Given the description of an element on the screen output the (x, y) to click on. 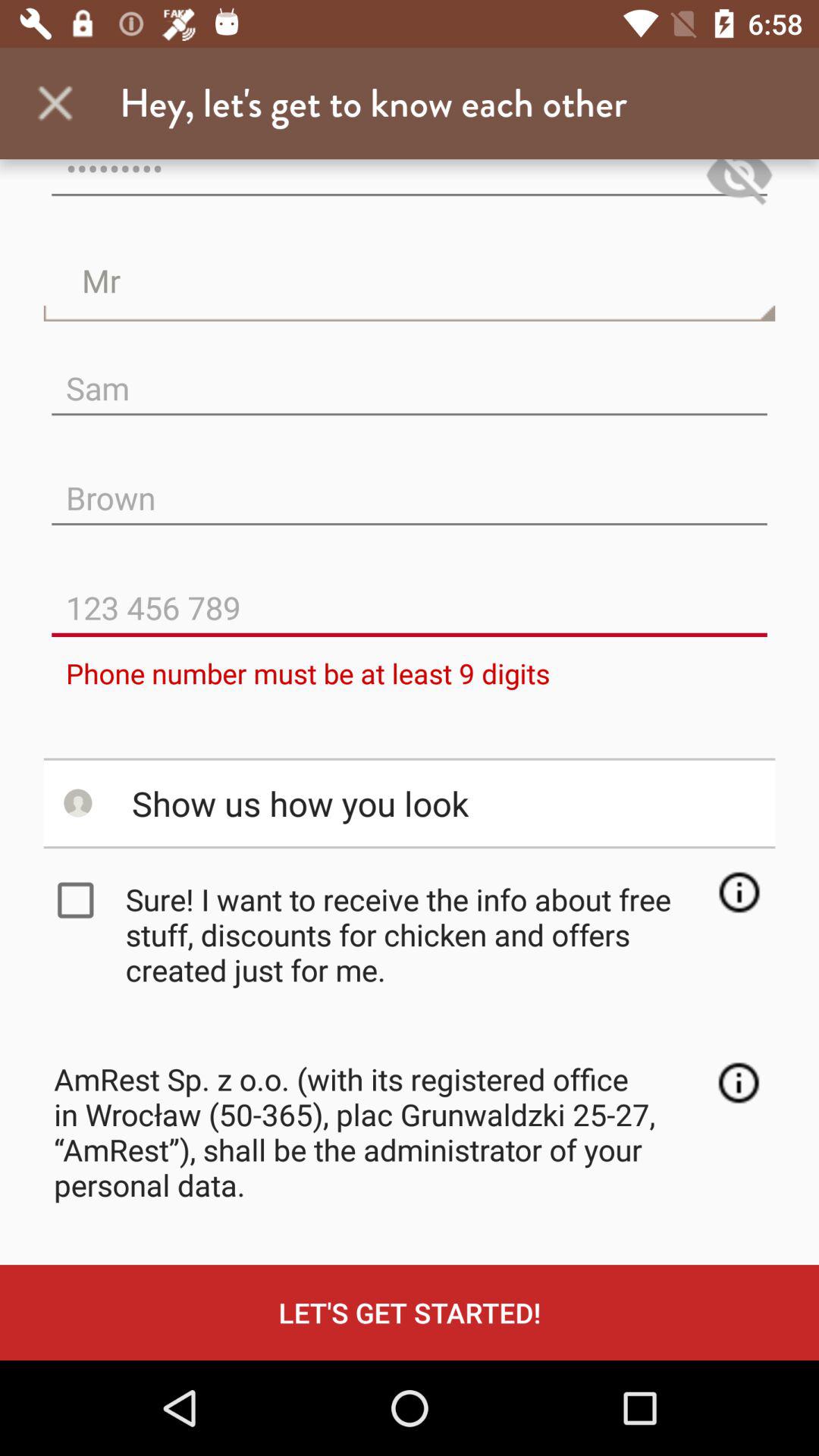
swipe to the brown icon (409, 485)
